Given the description of an element on the screen output the (x, y) to click on. 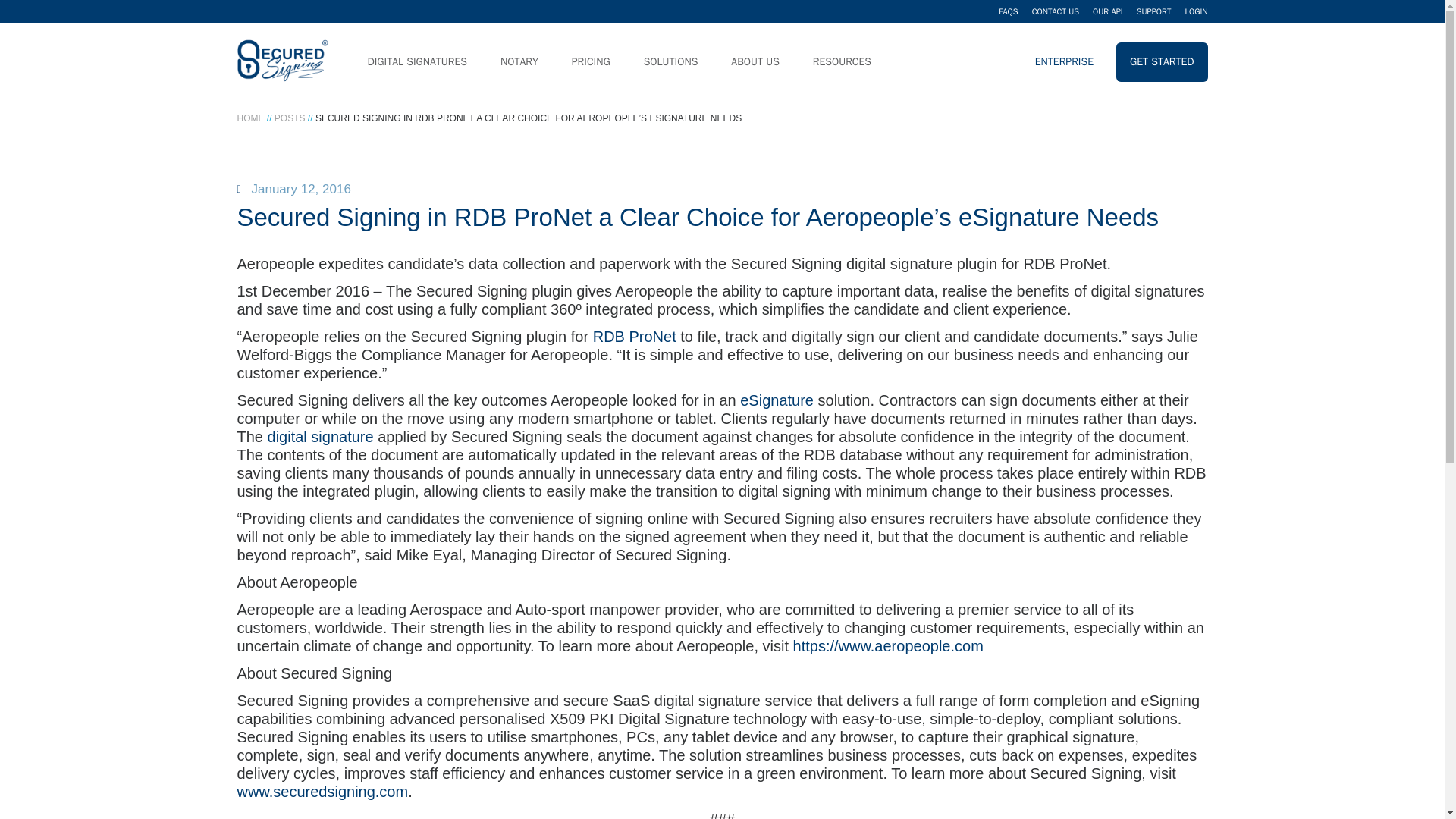
FAQS (1007, 11)
RESOURCES (847, 61)
CONTACT US (1055, 11)
SOLUTIONS (676, 61)
GET STARTED (1162, 61)
ENTERPRISE (1064, 62)
ABOUT US (761, 61)
DIGITAL SIGNATURES (422, 61)
Secured Signing (281, 61)
SUPPORT (1154, 11)
